Given the description of an element on the screen output the (x, y) to click on. 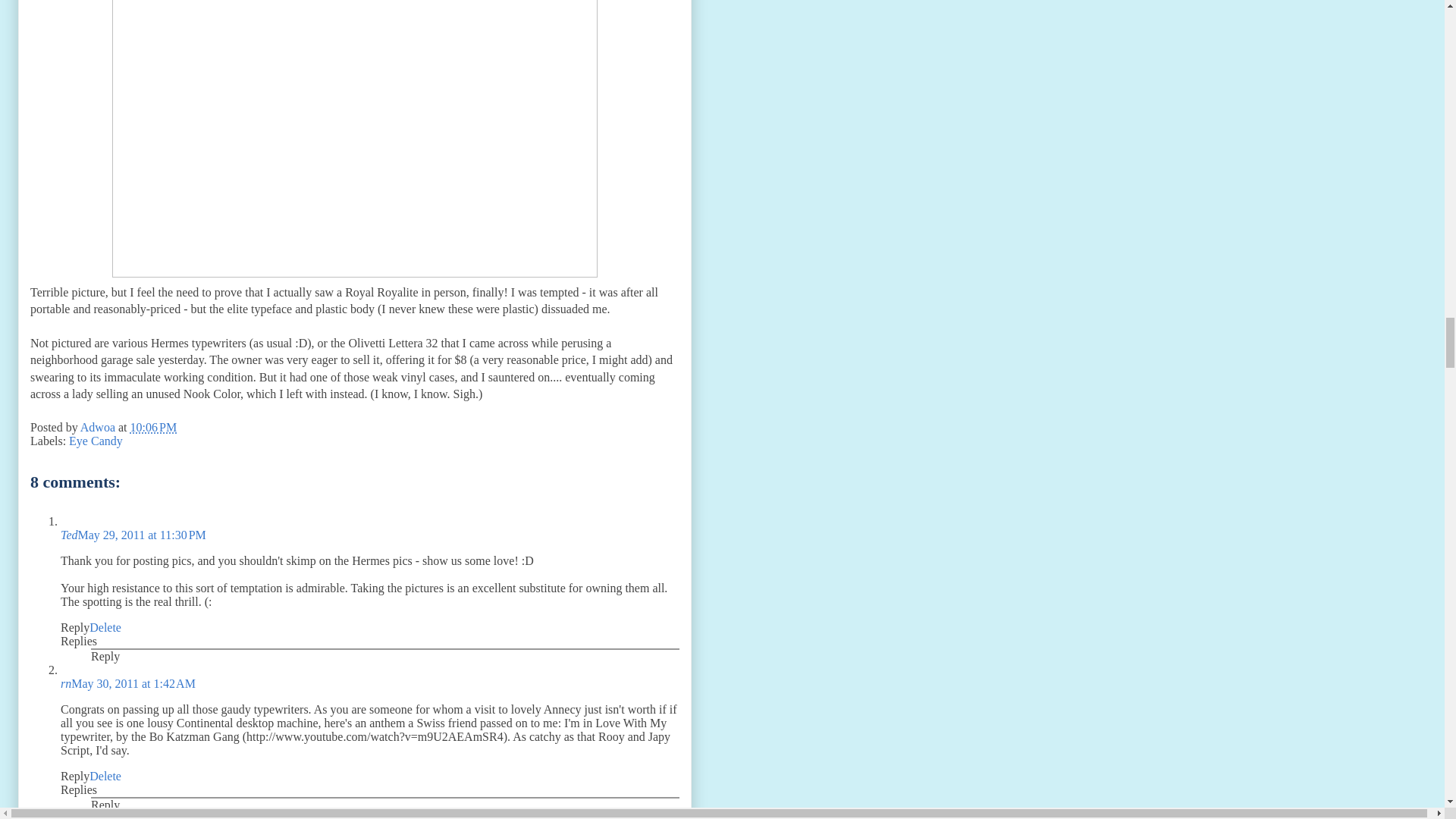
Delete (104, 775)
author profile (98, 427)
Ted (69, 534)
Replies (79, 640)
Replies (79, 789)
Reply (104, 804)
Reply (74, 626)
Adwoa (98, 427)
Delete (104, 626)
Reply (104, 656)
Reply (74, 775)
Eye Candy (95, 440)
